Given the description of an element on the screen output the (x, y) to click on. 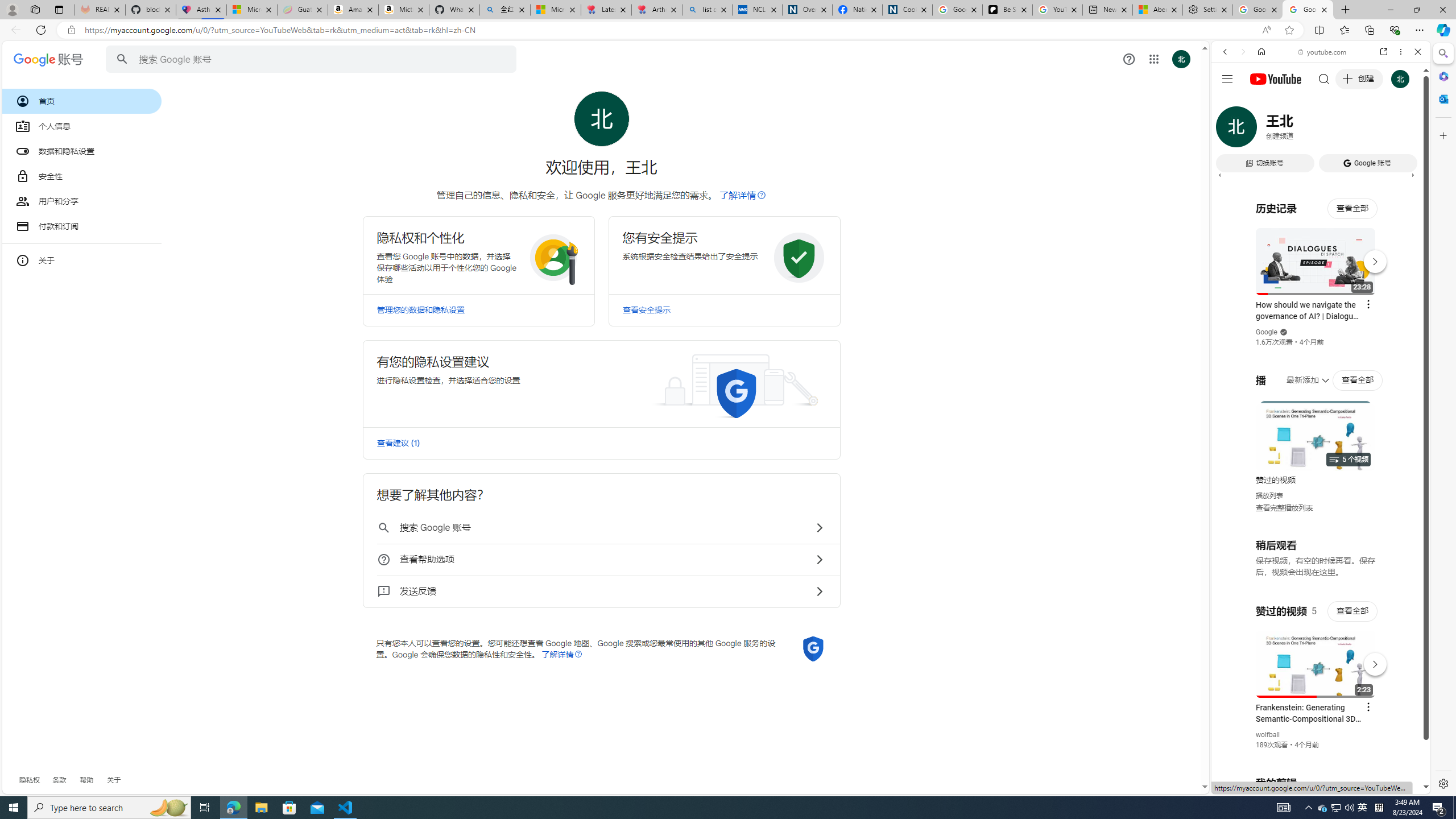
wolfball (1268, 734)
Search videos from youtube.com (1299, 373)
US[ju] (1249, 785)
